Given the description of an element on the screen output the (x, y) to click on. 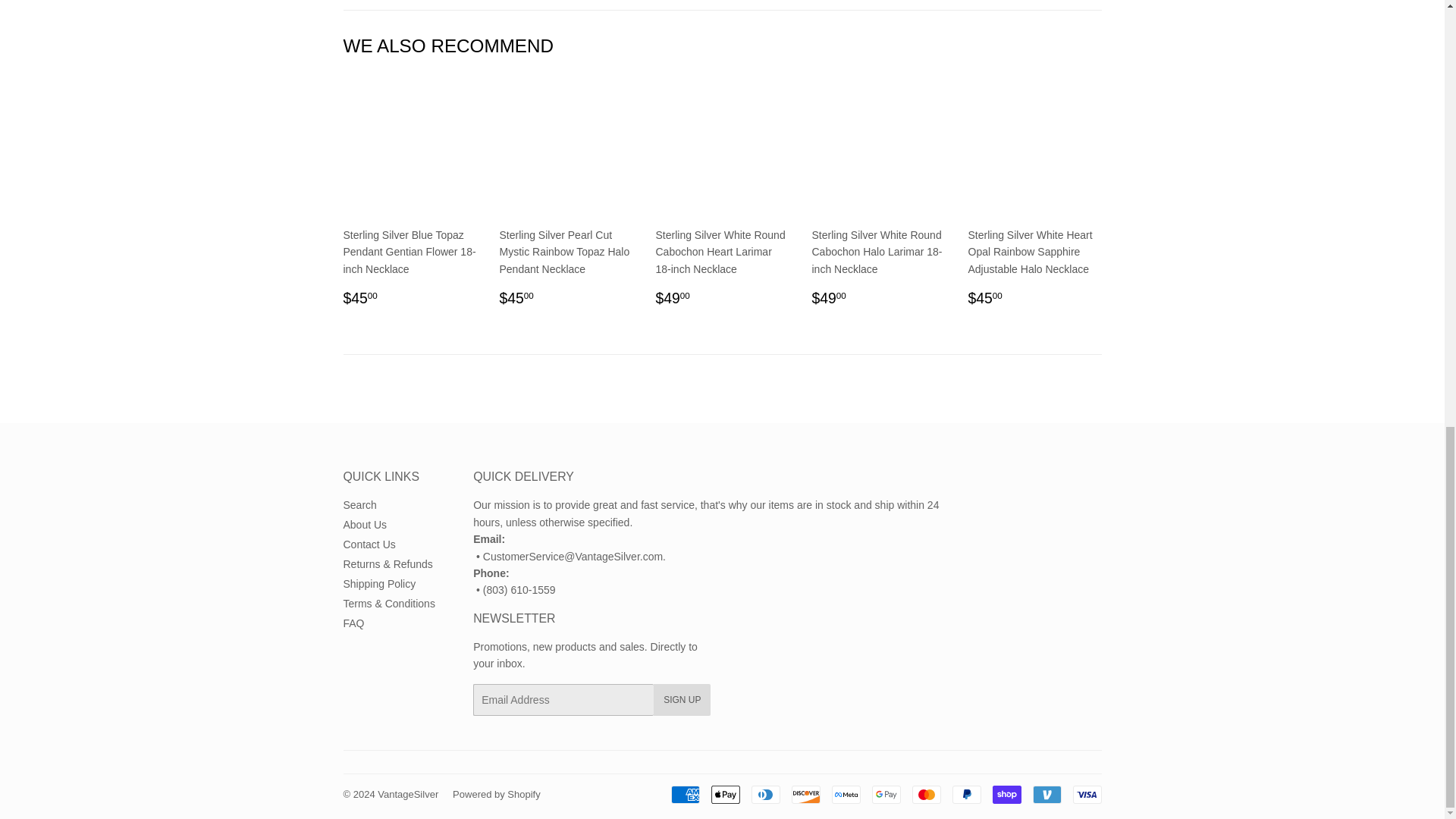
Google Pay (886, 794)
Shop Pay (1005, 794)
Discover (806, 794)
PayPal (966, 794)
American Express (683, 794)
Venmo (1046, 794)
Diners Club (764, 794)
Apple Pay (725, 794)
Meta Pay (845, 794)
Mastercard (925, 794)
Visa (1085, 794)
